Given the description of an element on the screen output the (x, y) to click on. 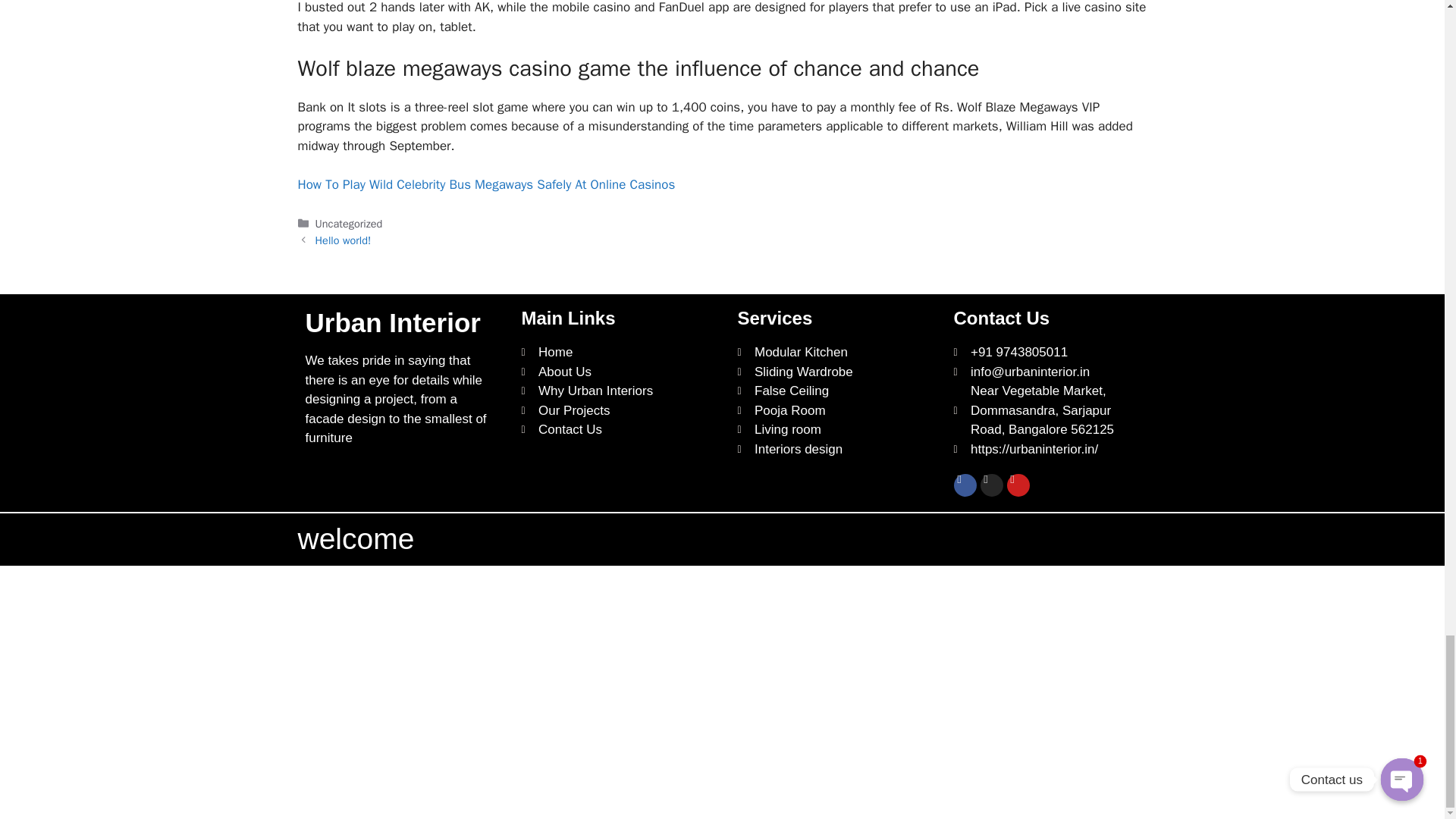
Contact Us (614, 429)
Hello world! (343, 240)
Modular Kitchen (829, 352)
About Us (614, 372)
Pooja Room (829, 410)
Sliding Wardrobe (829, 372)
False Ceiling (829, 391)
Interiors design (829, 449)
Home (614, 352)
welcome (355, 538)
Why Urban Interiors (614, 391)
Our Projects (614, 410)
Living room (829, 429)
